Given the description of an element on the screen output the (x, y) to click on. 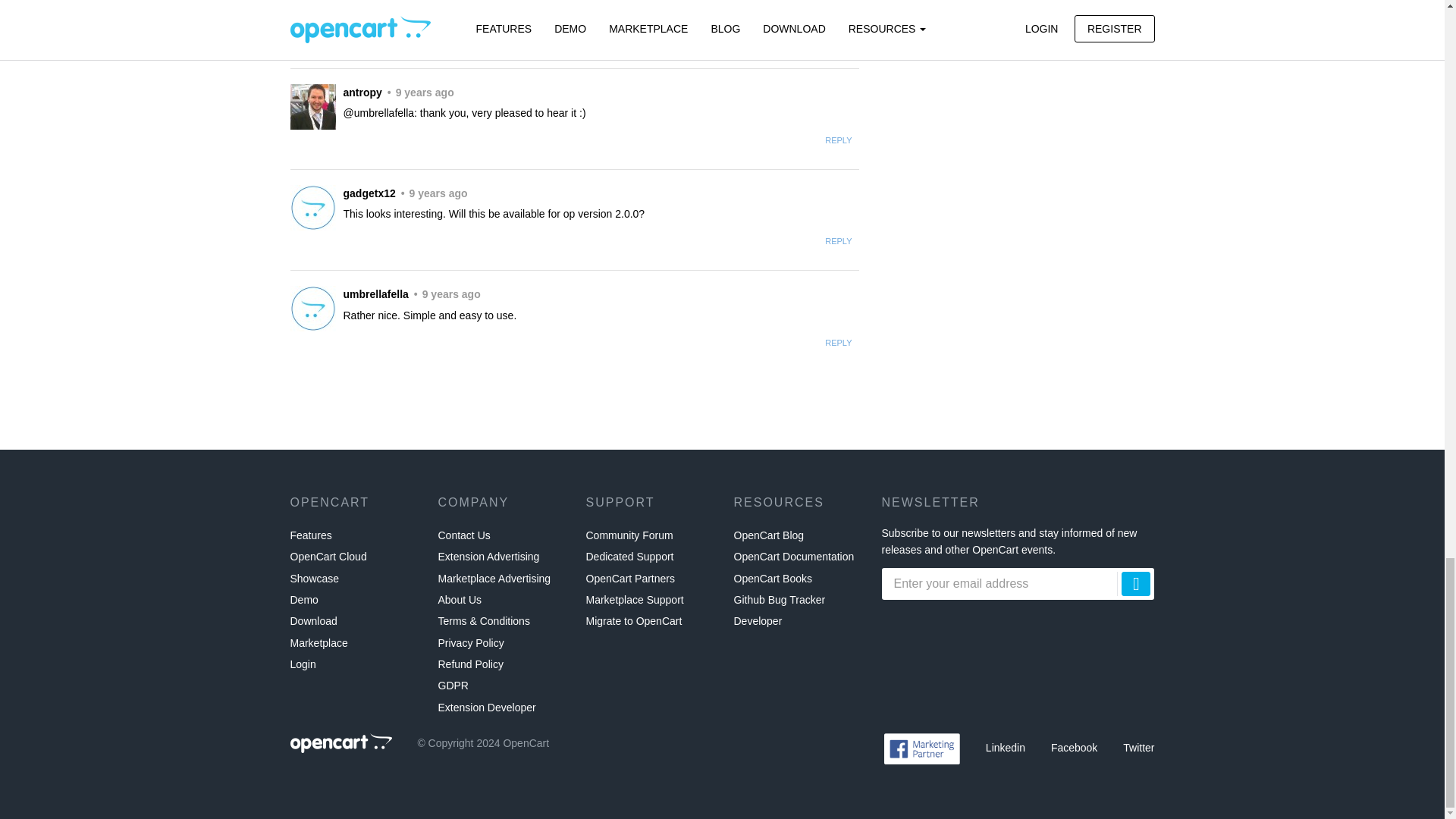
umbrellafella (311, 308)
gadgetx12 (311, 207)
antropy (311, 5)
antropy (311, 106)
